Given the description of an element on the screen output the (x, y) to click on. 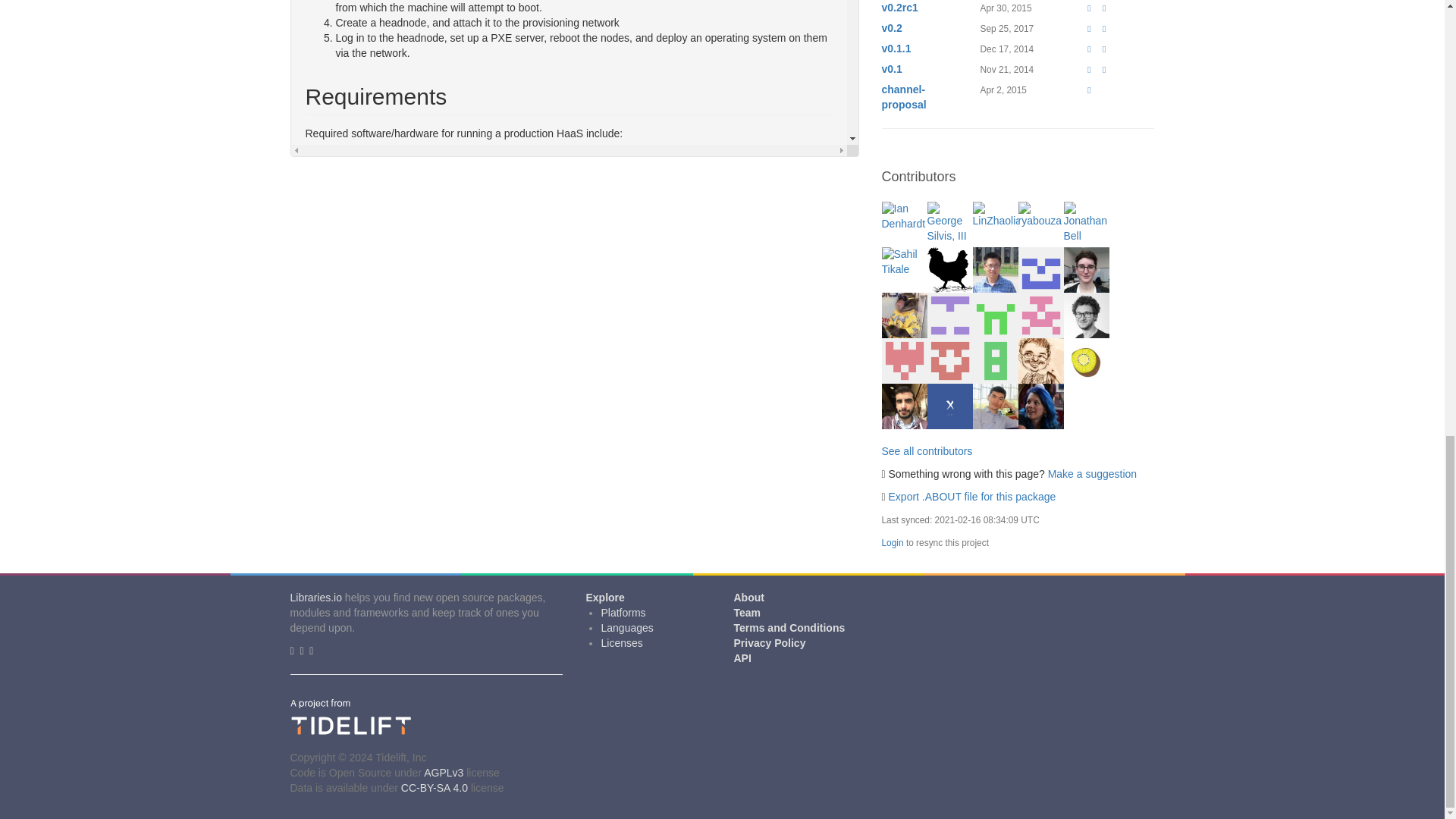
HACKING.rst (365, 679)
The docs directory (378, 739)
apidesc.md (362, 648)
examples (357, 709)
overview.md (364, 603)
using.rst (354, 633)
INSTALL.rst (362, 617)
